Given the description of an element on the screen output the (x, y) to click on. 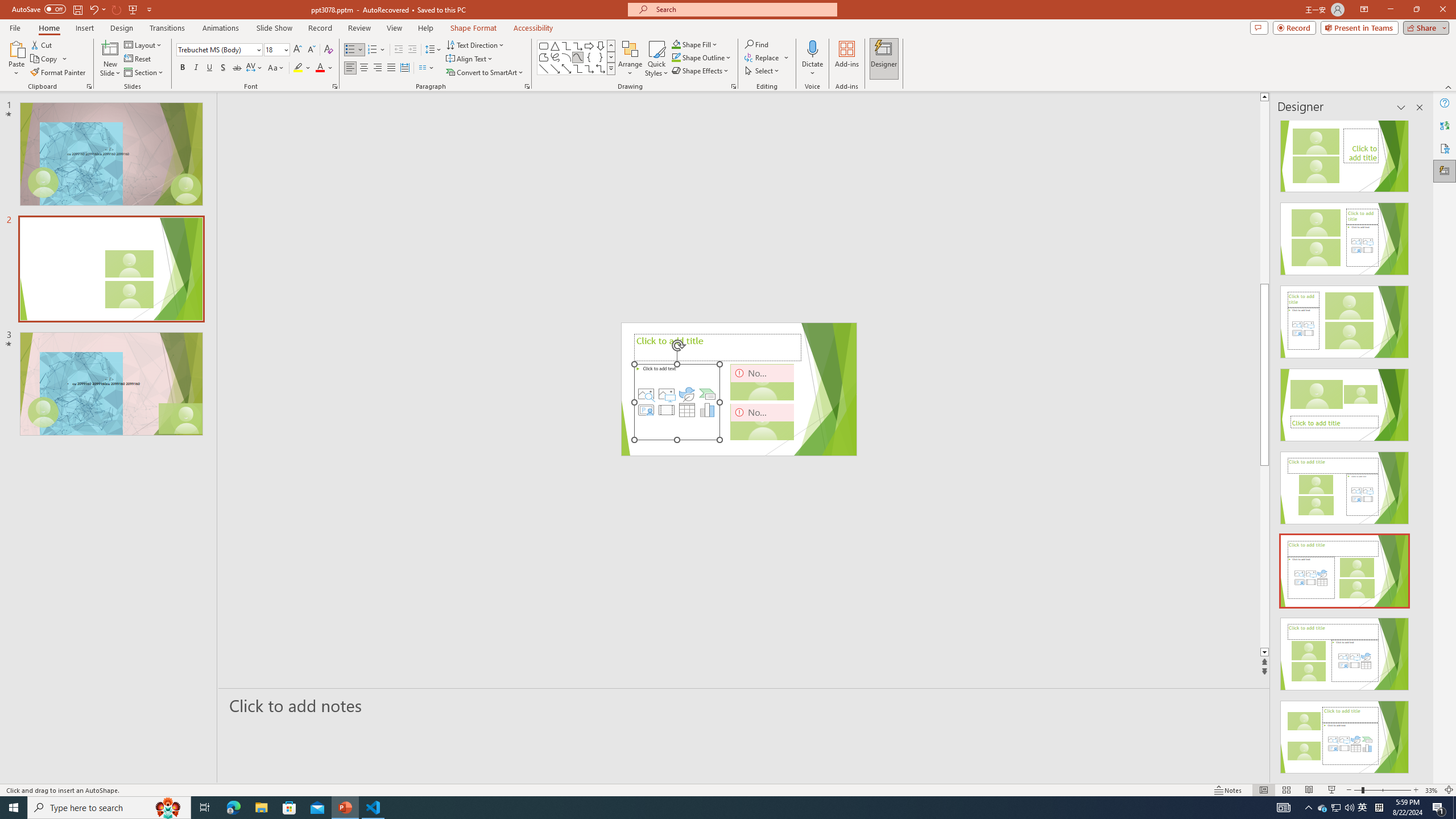
Line Arrow: Double (566, 68)
